Given the description of an element on the screen output the (x, y) to click on. 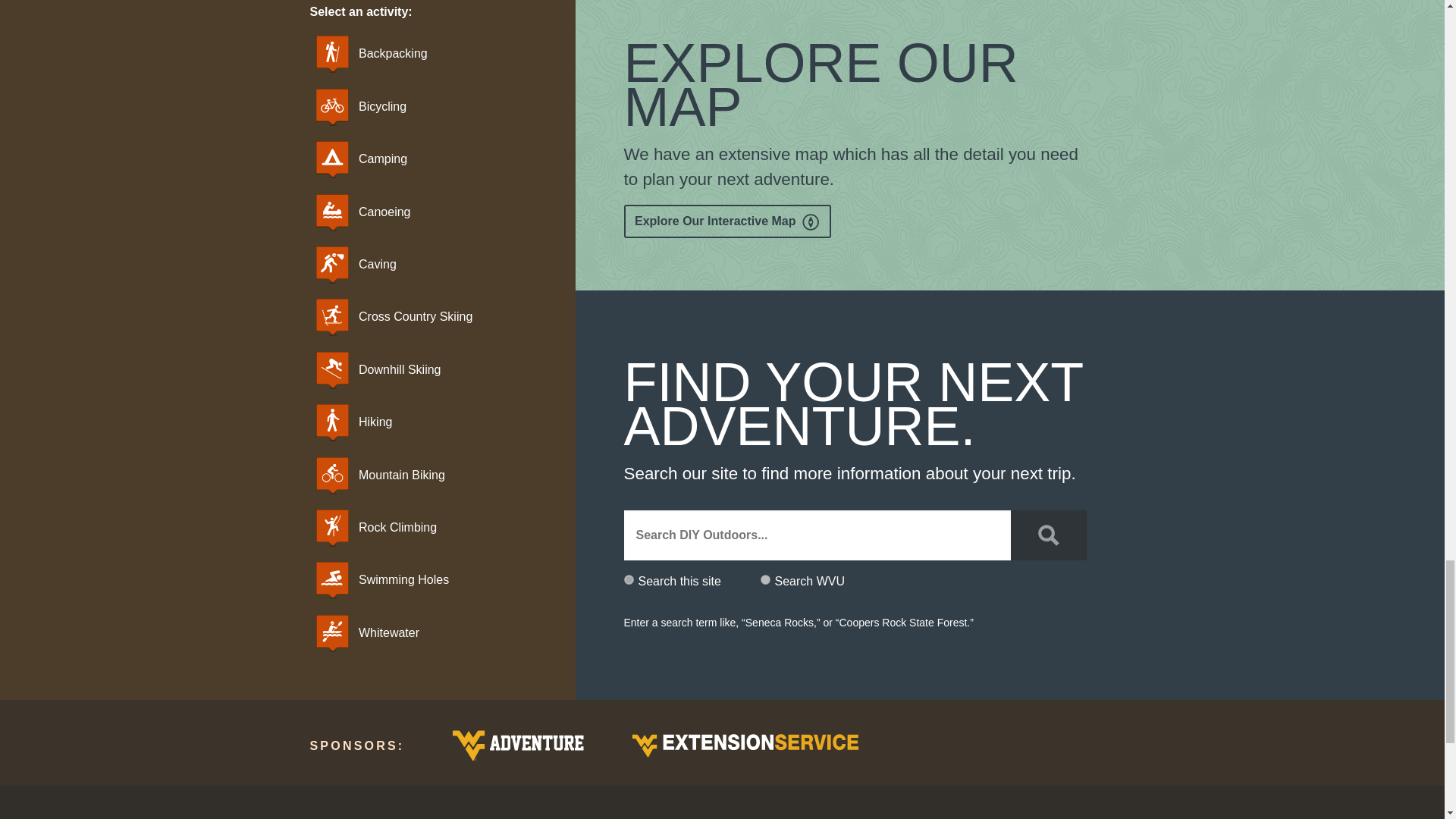
wvu.edu (765, 579)
diyoutdoors.wvu.edu (628, 579)
wvu.edu (765, 579)
Search (1048, 535)
diyoutdoors.wvu.edu (628, 579)
Search (1048, 535)
